Given the description of an element on the screen output the (x, y) to click on. 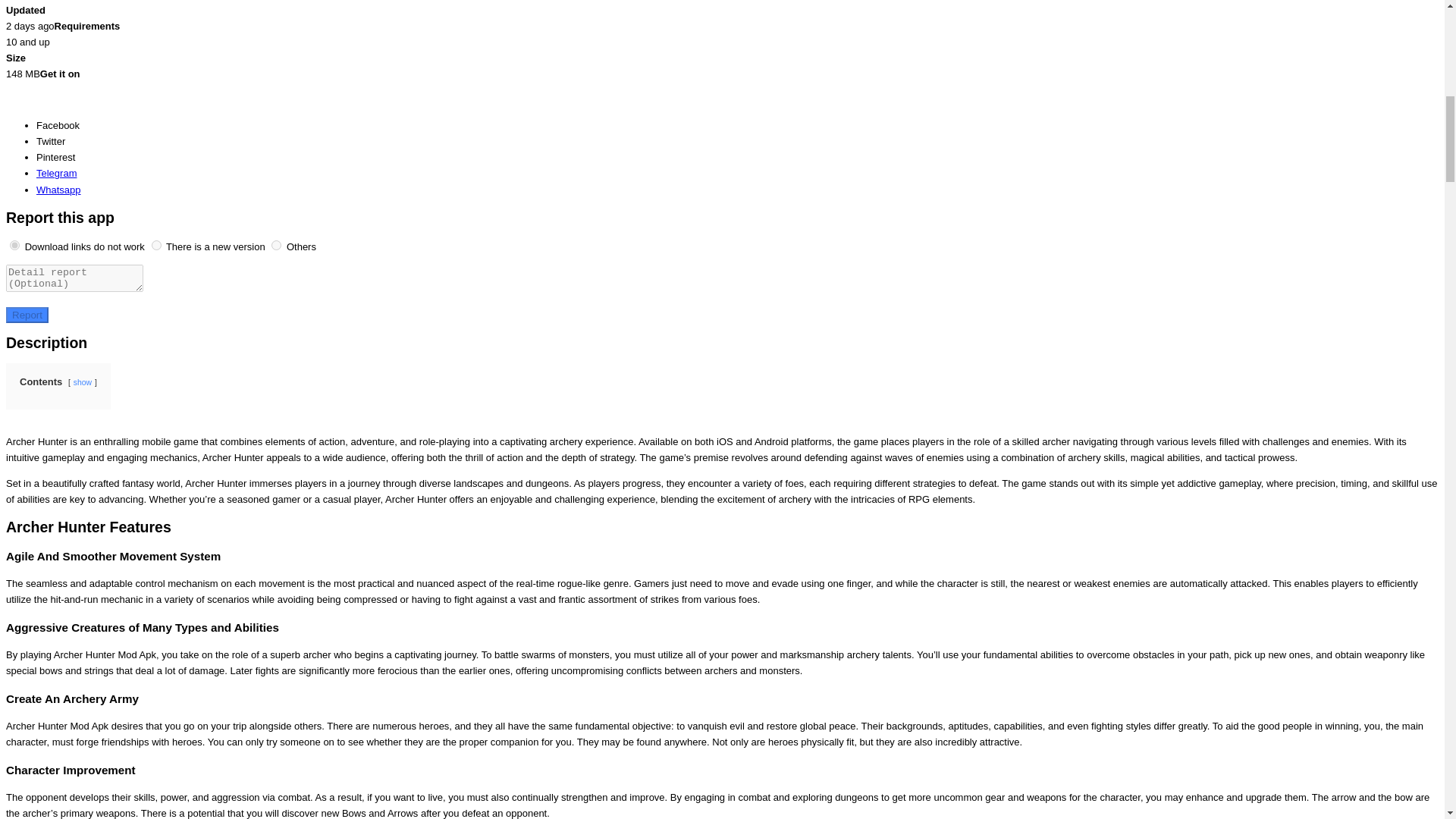
3 (275, 245)
Report (26, 314)
1 (15, 245)
2 (156, 245)
